Given the description of an element on the screen output the (x, y) to click on. 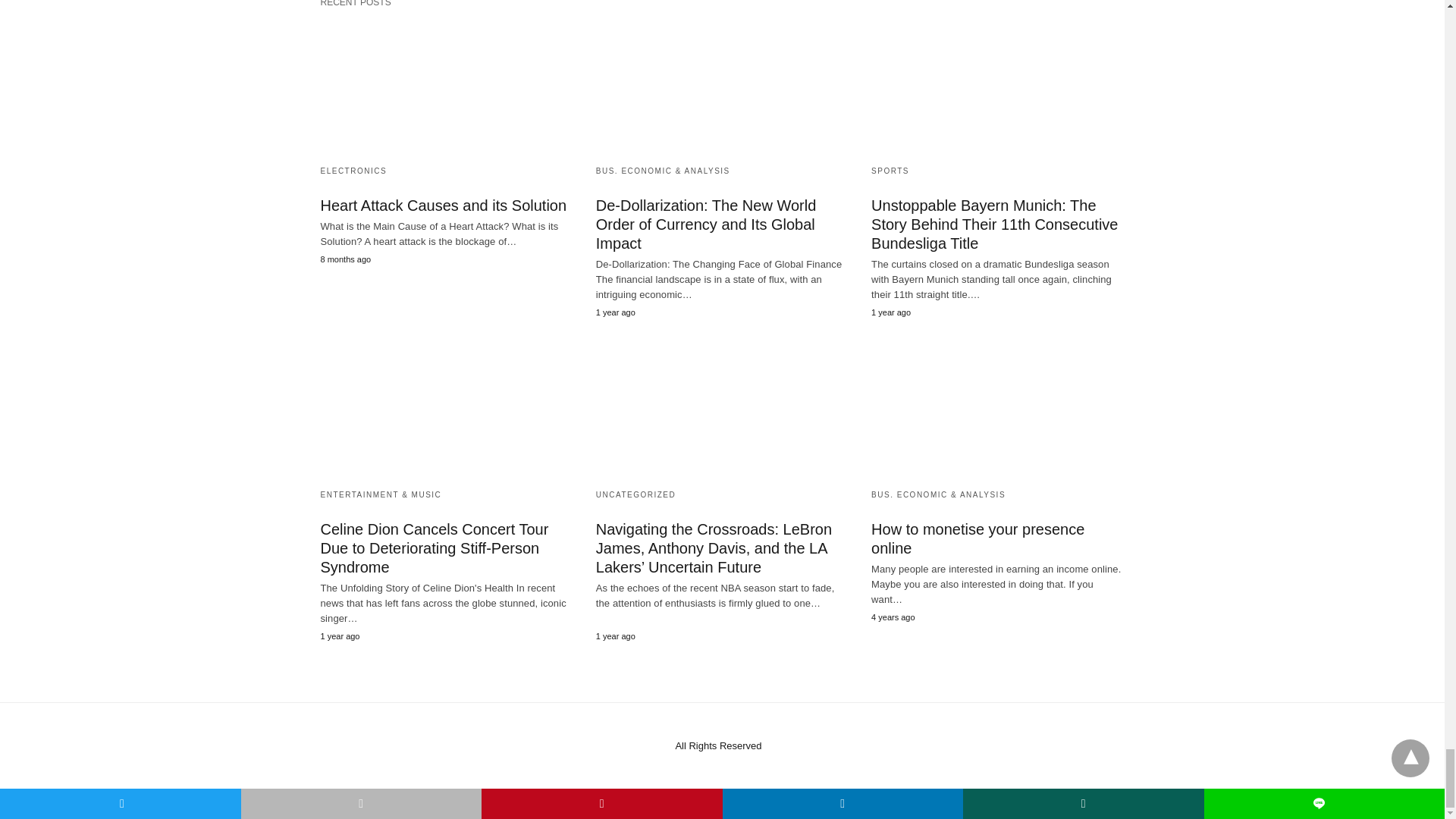
Heart Attack Causes and its Solution (446, 84)
